Given the description of an element on the screen output the (x, y) to click on. 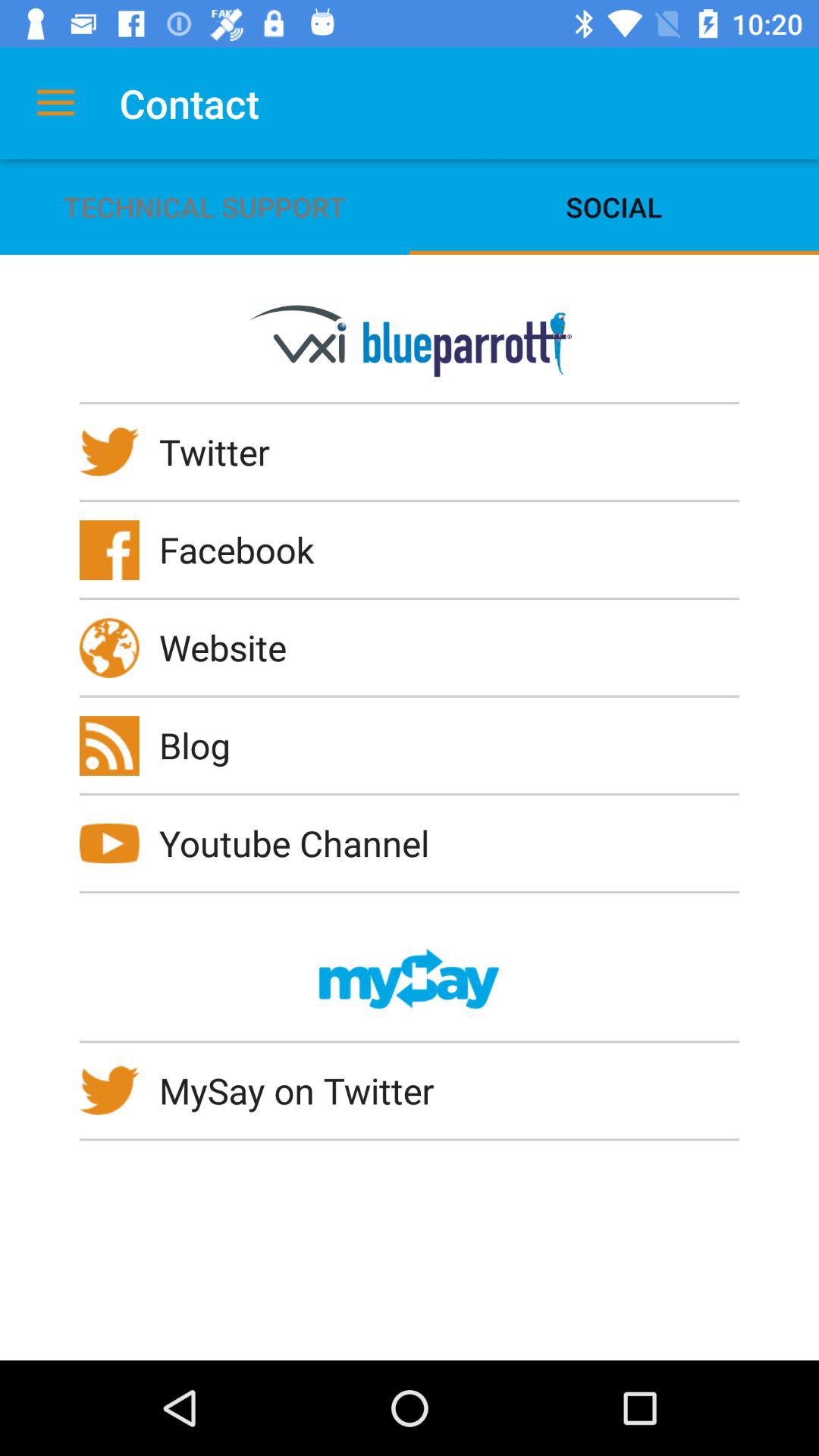
jump until the facebook item (246, 549)
